Given the description of an element on the screen output the (x, y) to click on. 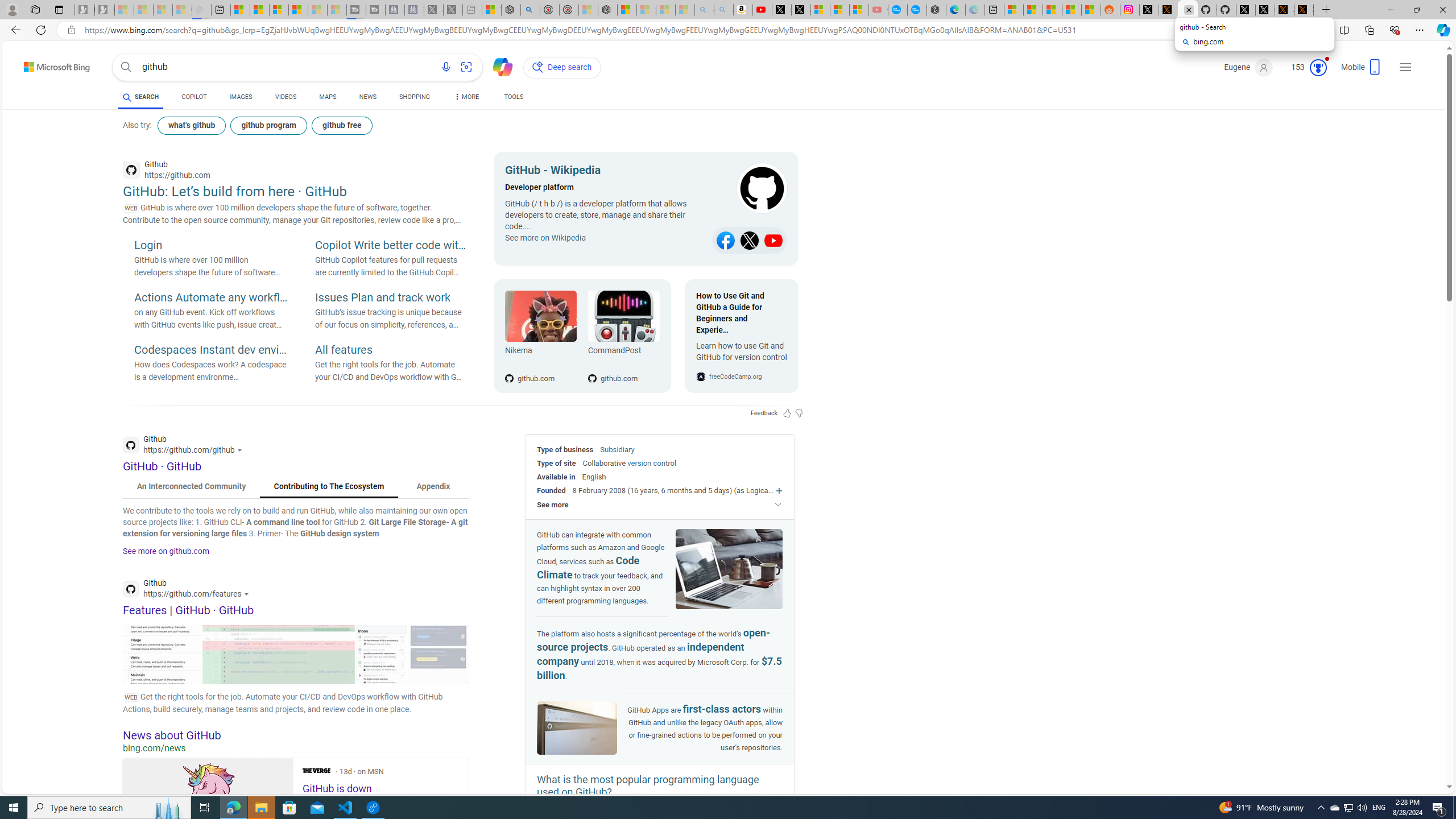
Login (210, 245)
Search using an image (465, 66)
GitHub - Wikipedia (604, 171)
github program (269, 125)
github free (341, 125)
Image of GitHub (577, 728)
TOOLS (512, 98)
Overview (279, 9)
Minimize (1390, 9)
Split screen (1344, 29)
Nordace - Nordace has arrived Hong Kong (935, 9)
News about GitHub (295, 735)
Contributing to The Ecosystem (328, 486)
poe - Search (529, 9)
